Given the description of an element on the screen output the (x, y) to click on. 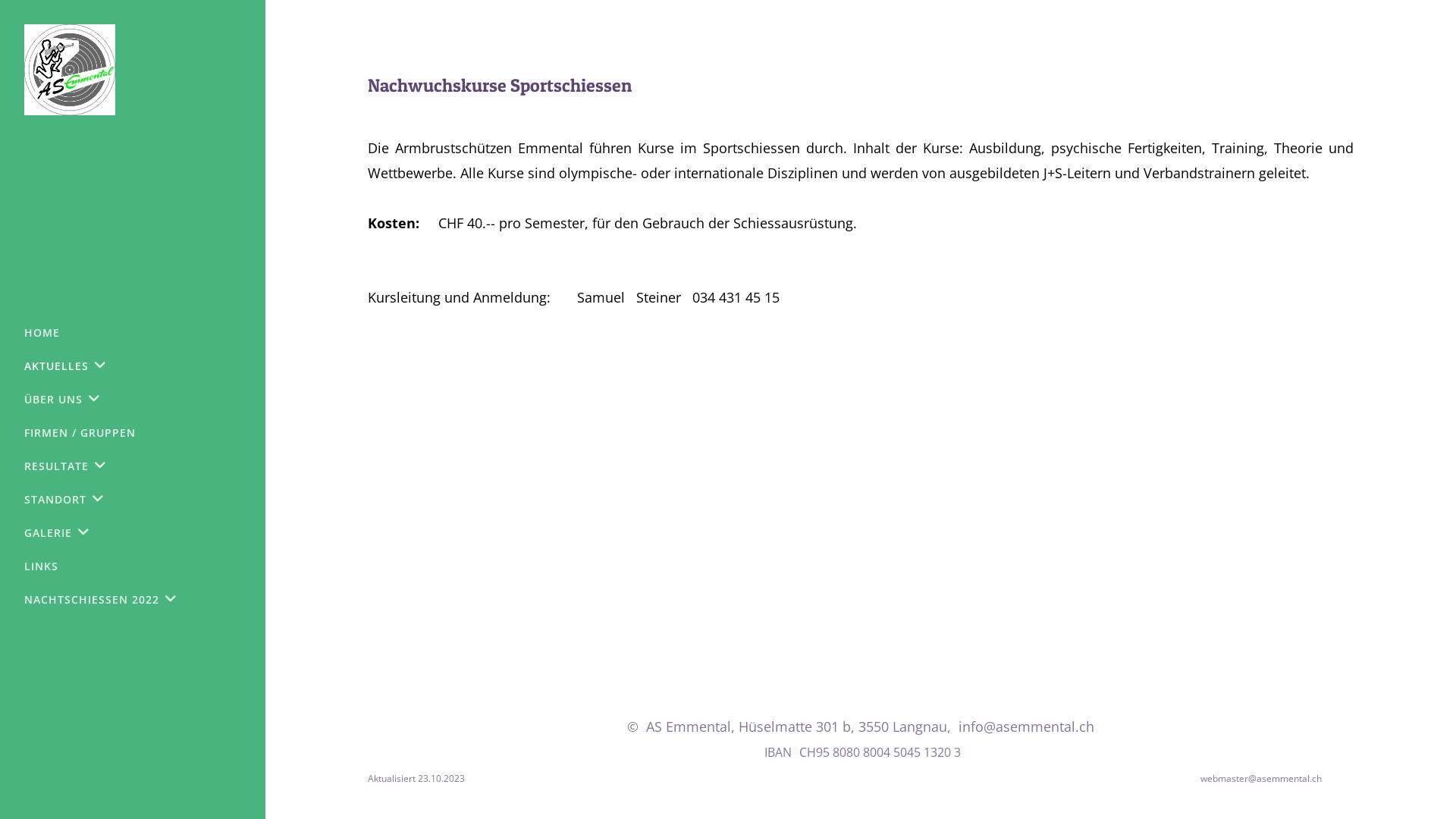
LINKS Element type: text (45, 566)
FIRMEN / GRUPPEN Element type: text (84, 432)
HOME Element type: text (46, 332)
